Given the description of an element on the screen output the (x, y) to click on. 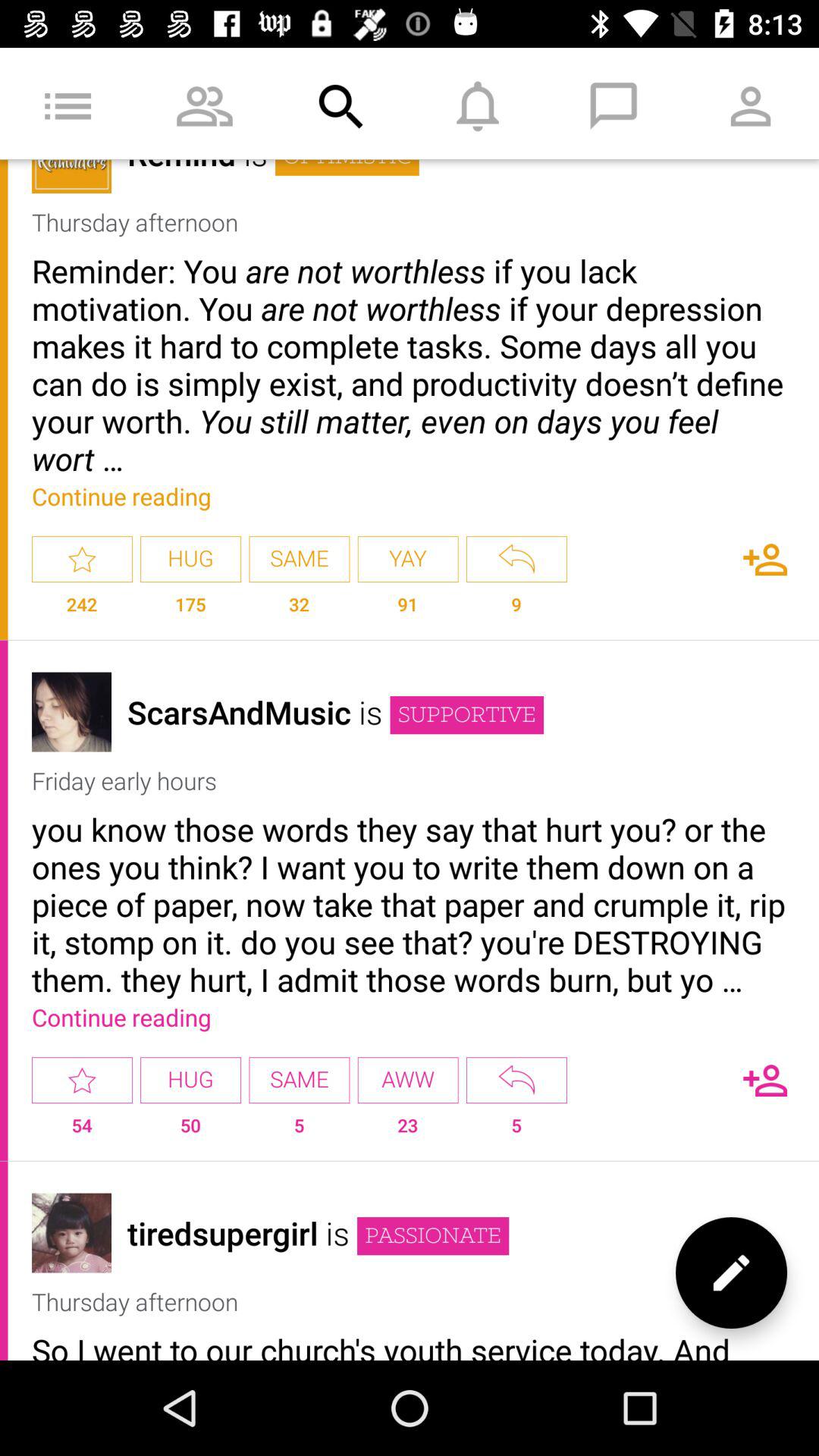
write new message (731, 1272)
